Given the description of an element on the screen output the (x, y) to click on. 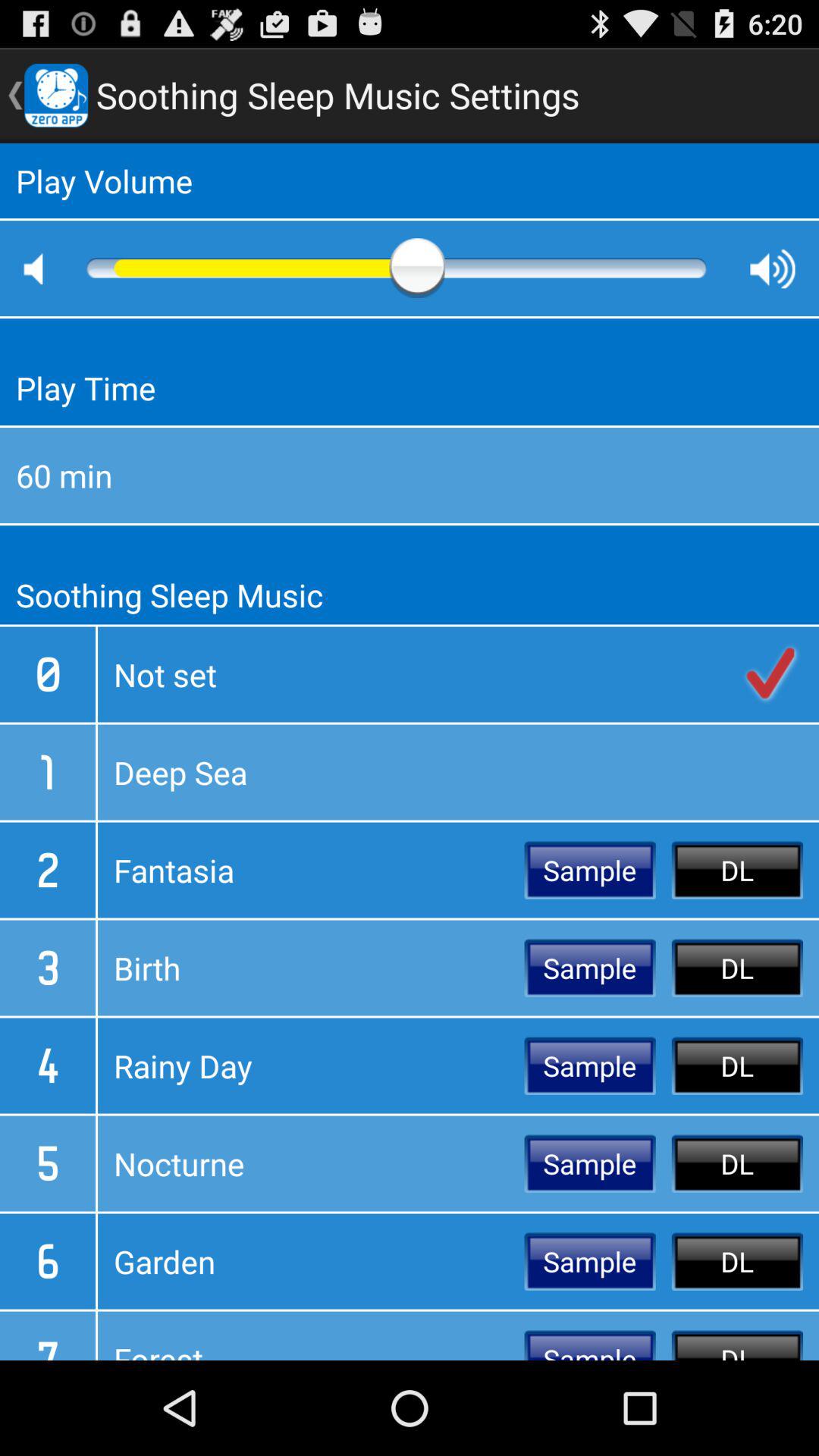
scroll until the garden item (310, 1261)
